Given the description of an element on the screen output the (x, y) to click on. 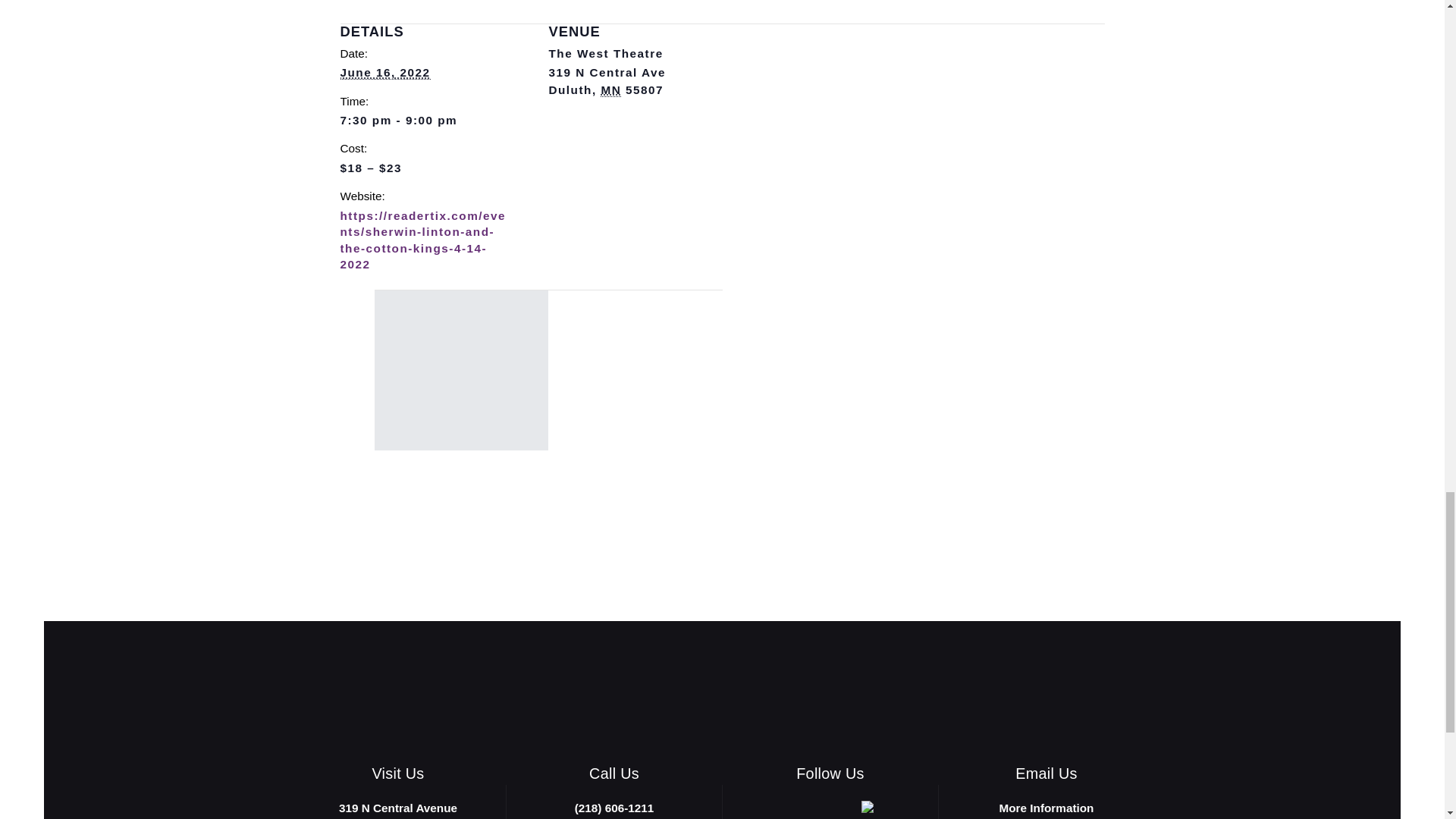
2022-06-16 (384, 72)
2022-06-16 (426, 119)
Minnesota (610, 90)
